Given the description of an element on the screen output the (x, y) to click on. 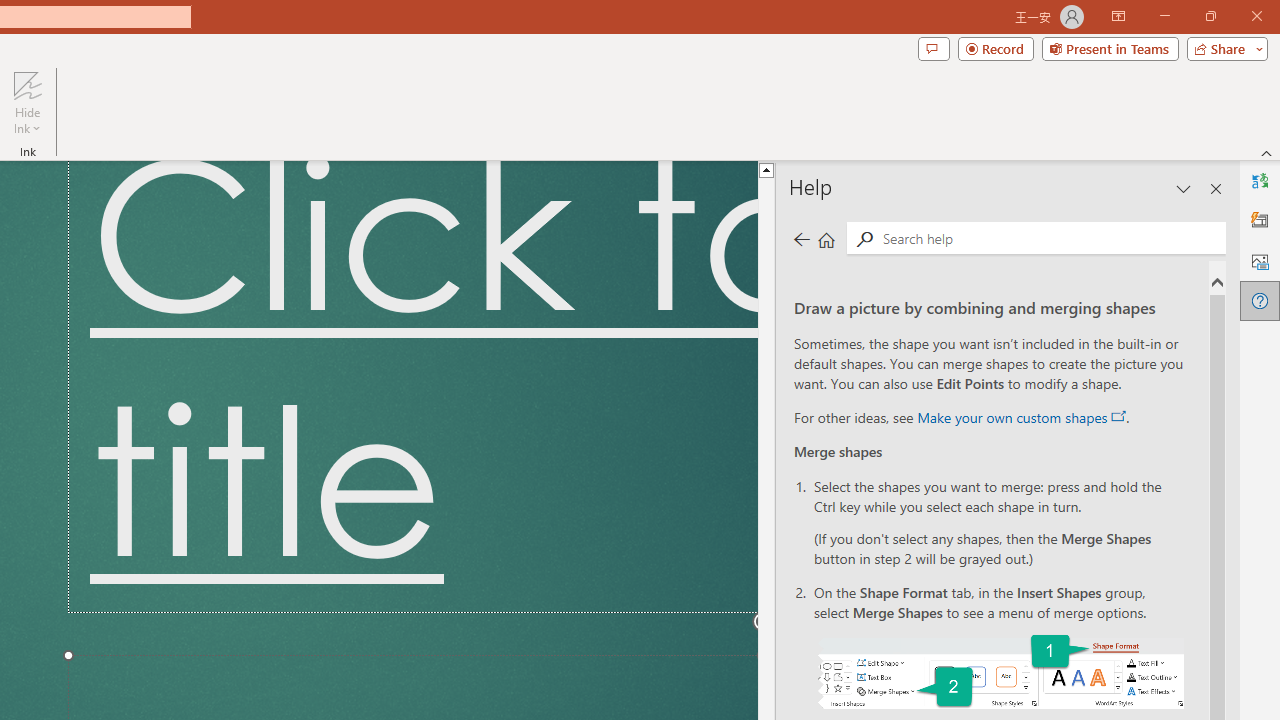
Alt Text (1260, 260)
openinnewwindow (1118, 416)
Line up (911, 169)
Search (1049, 237)
Previous page (801, 238)
On the Shape Format tab, select Merge Shapes. (1000, 671)
Close pane (1215, 188)
